Given the description of an element on the screen output the (x, y) to click on. 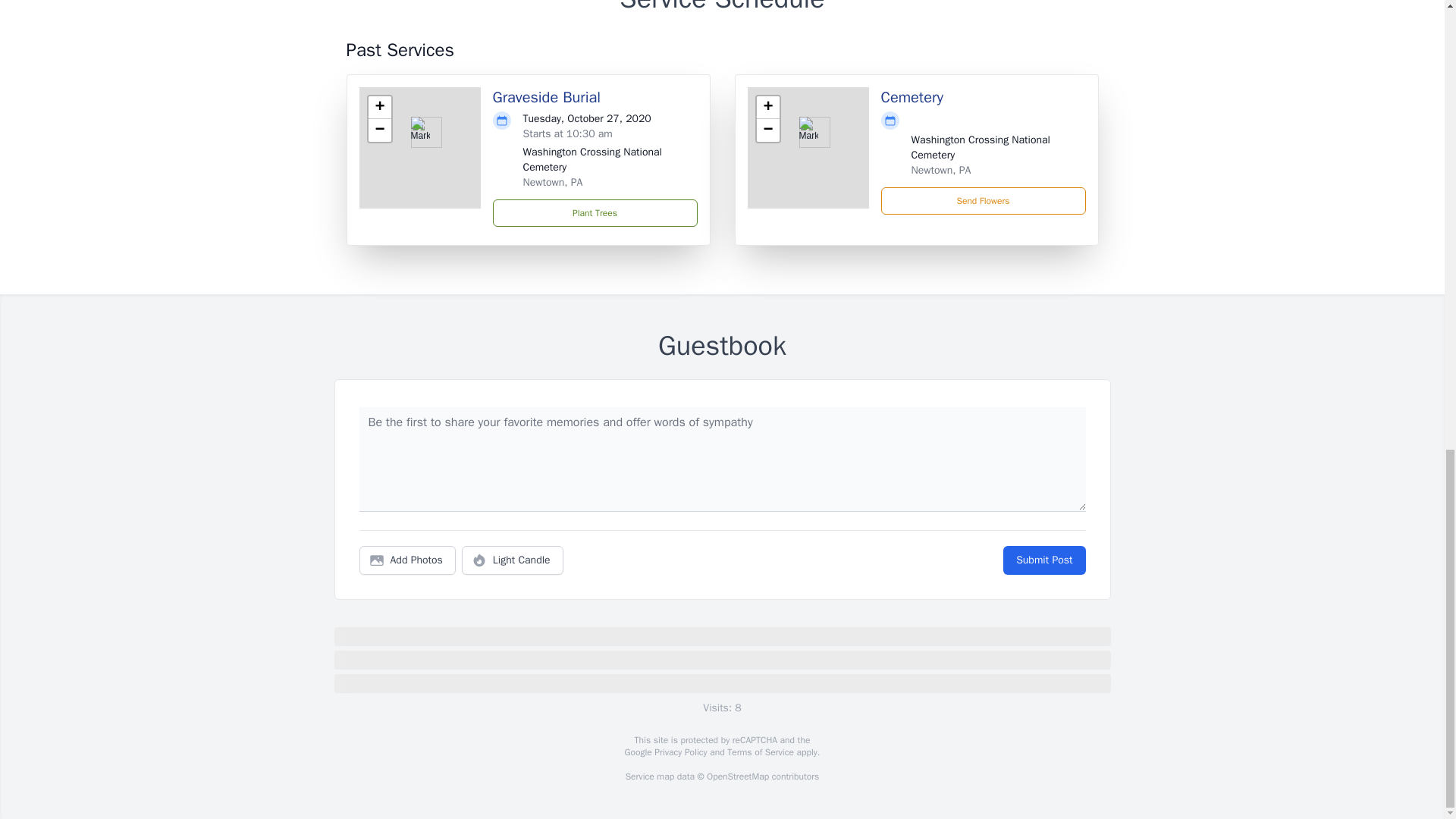
Newtown, PA (941, 169)
Zoom in (379, 107)
Plant Trees (595, 212)
Zoom out (379, 129)
OpenStreetMap (737, 776)
Privacy Policy (679, 752)
Light Candle (512, 560)
Newtown, PA (552, 182)
Send Flowers (983, 200)
Terms of Service (759, 752)
Submit Post (1043, 560)
Zoom out (767, 129)
Add Photos (407, 560)
Zoom in (767, 107)
